Given the description of an element on the screen output the (x, y) to click on. 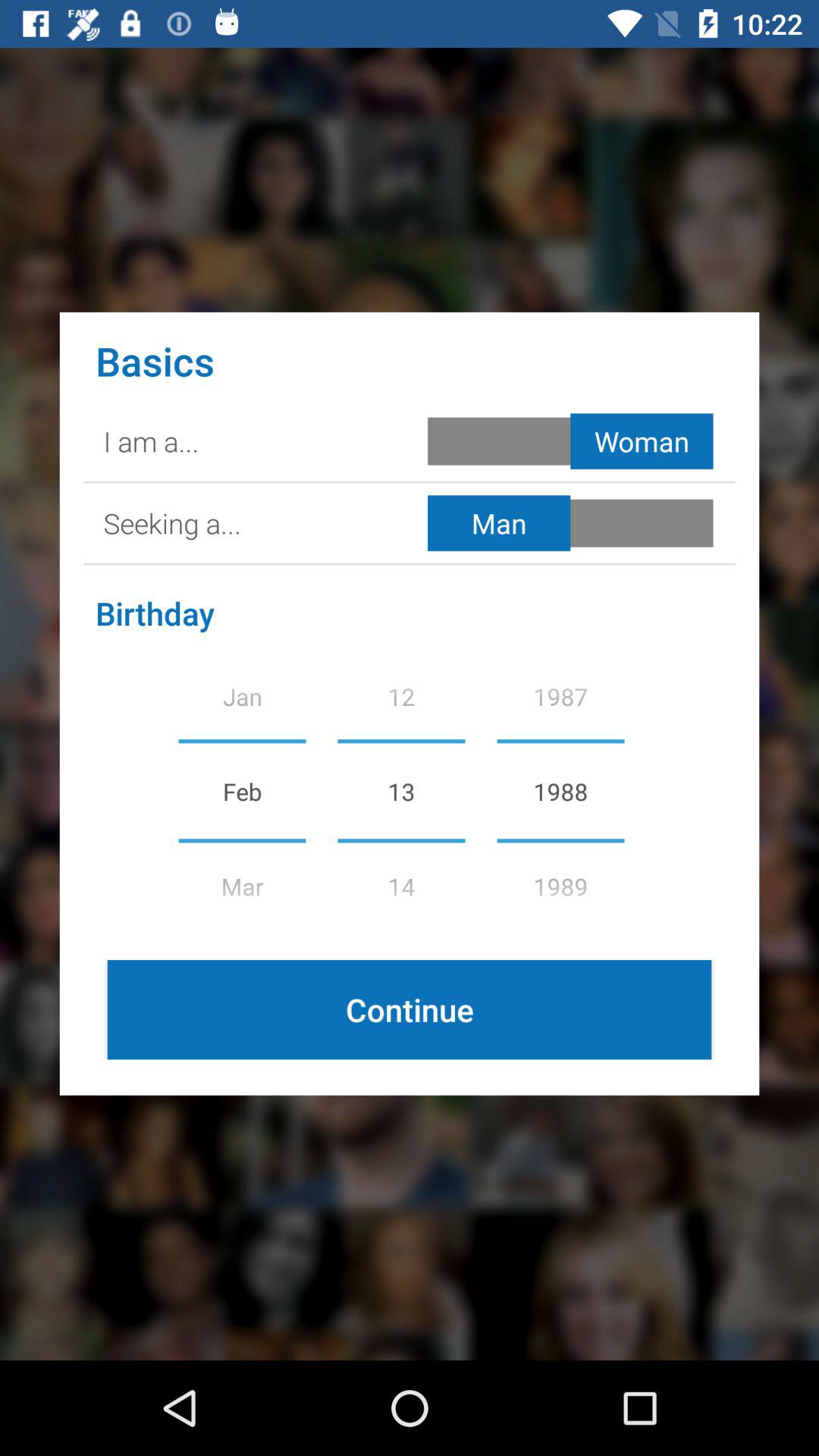
a toggle switch (573, 523)
